Given the description of an element on the screen output the (x, y) to click on. 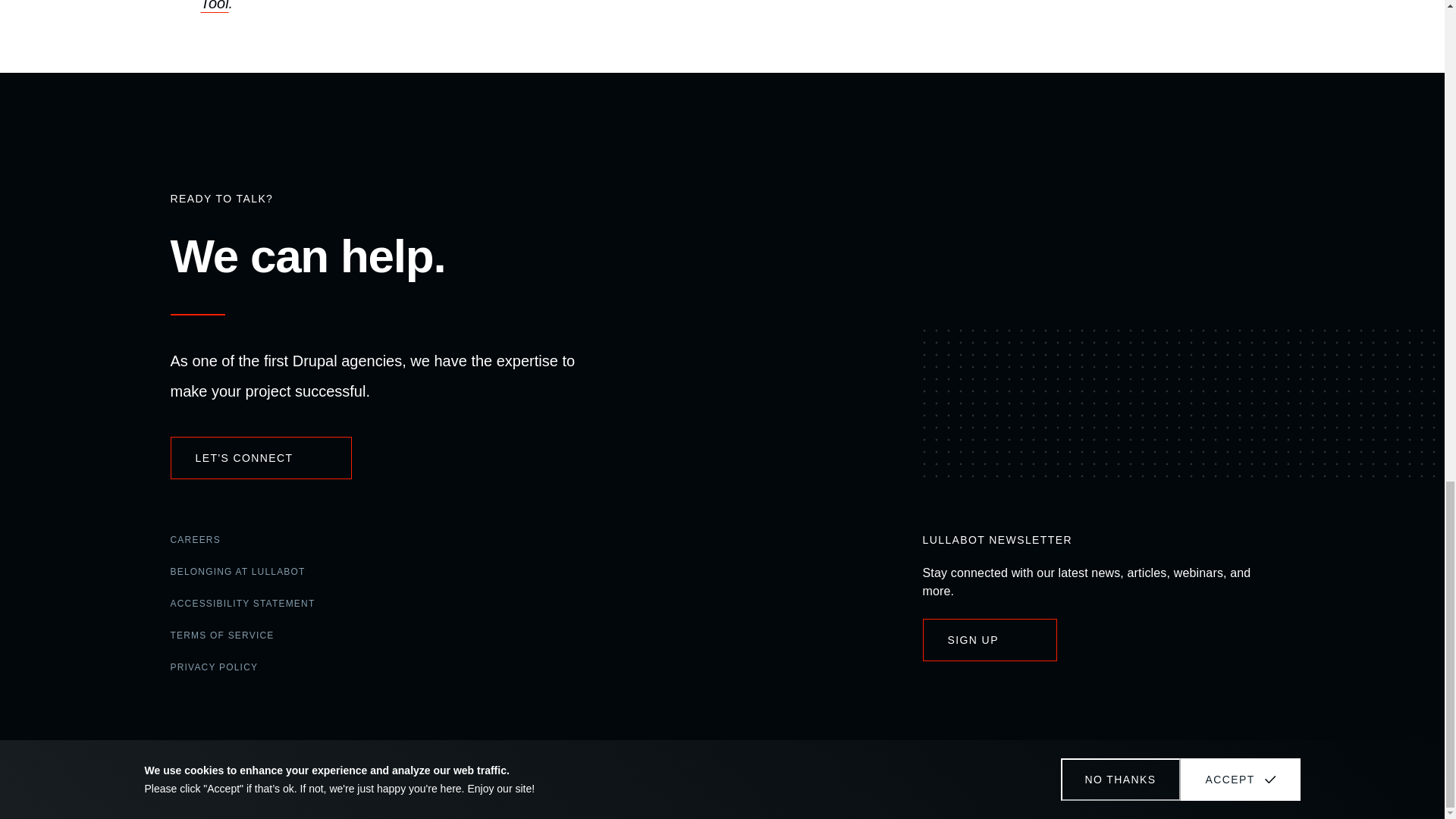
W3C Accessibility Statement Generator Tool (530, 5)
PRIVACY POLICY (213, 667)
CAREERS (194, 540)
SIGN UP (989, 639)
TERMS OF SERVICE (221, 635)
ACCESSIBILITY STATEMENT (242, 603)
LET'S CONNECT (260, 457)
BELONGING AT LULLABOT (237, 572)
